Given the description of an element on the screen output the (x, y) to click on. 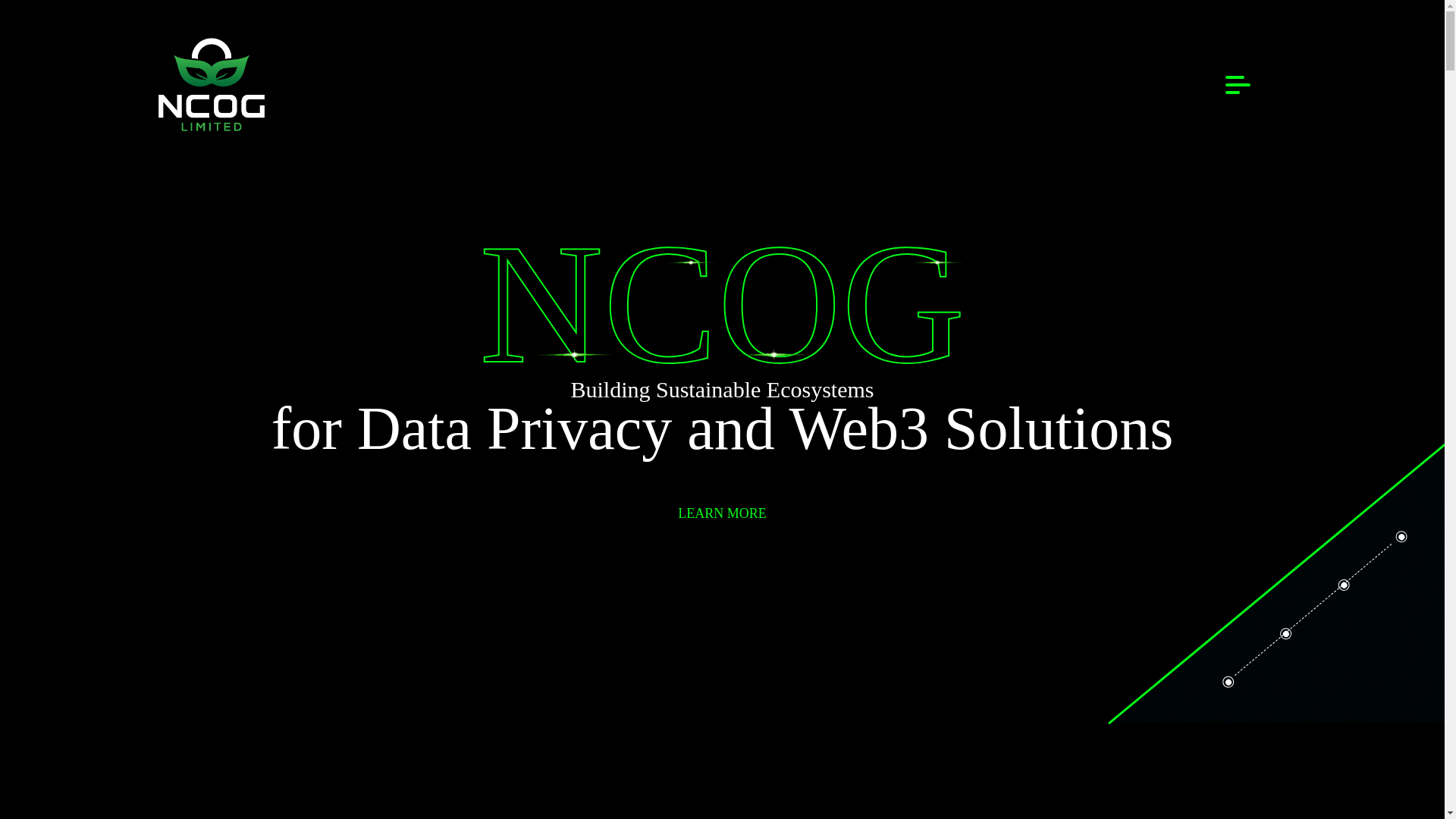
LEARN MORE (721, 513)
LEARN MORE (721, 513)
LEARN MORE (721, 513)
